Given the description of an element on the screen output the (x, y) to click on. 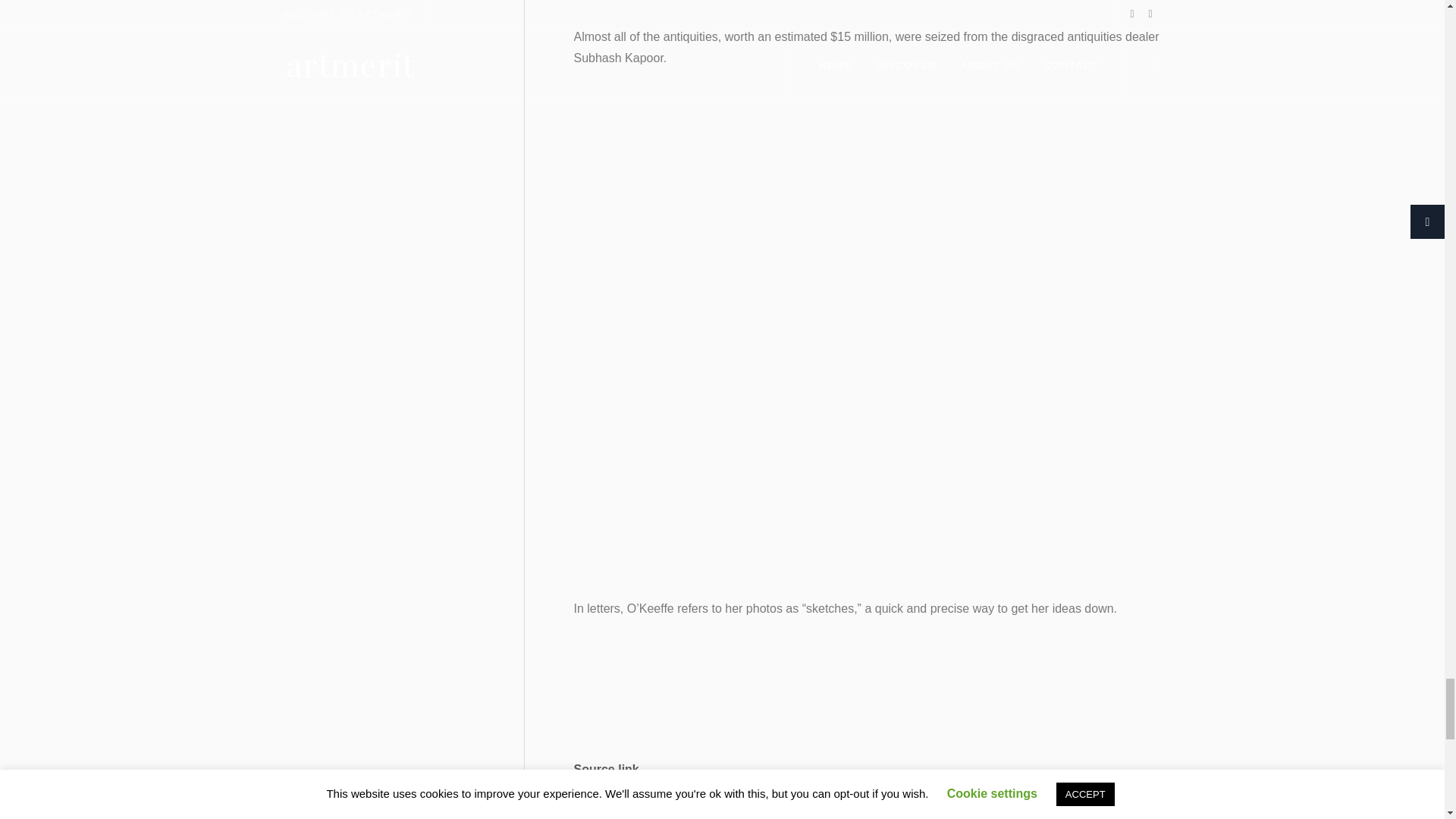
Source link (606, 768)
